Given the description of an element on the screen output the (x, y) to click on. 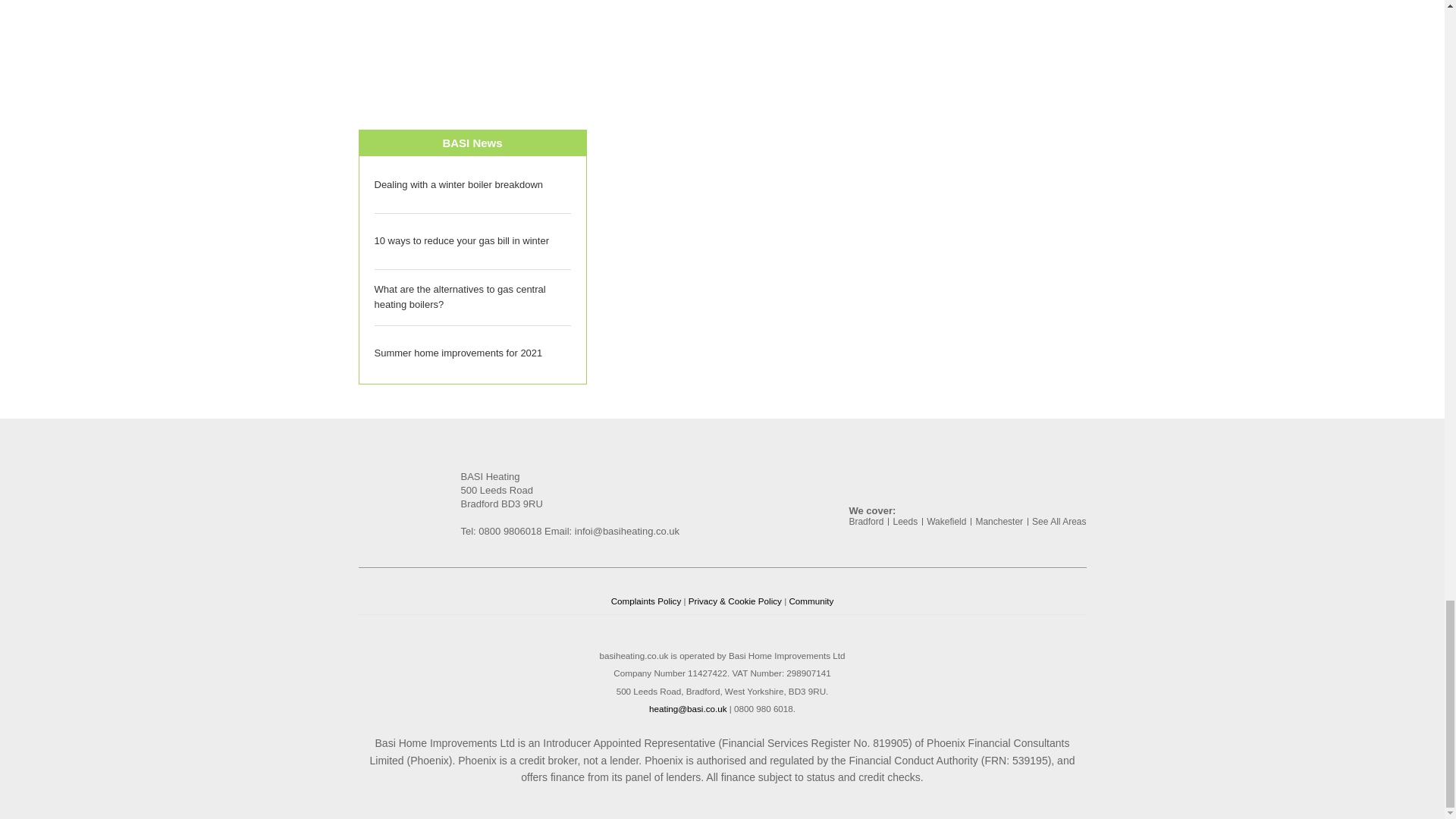
Vaillant (410, 45)
Safe (837, 45)
Worcester (622, 45)
Marie Curie Cancer Care (1048, 45)
